Given the description of an element on the screen output the (x, y) to click on. 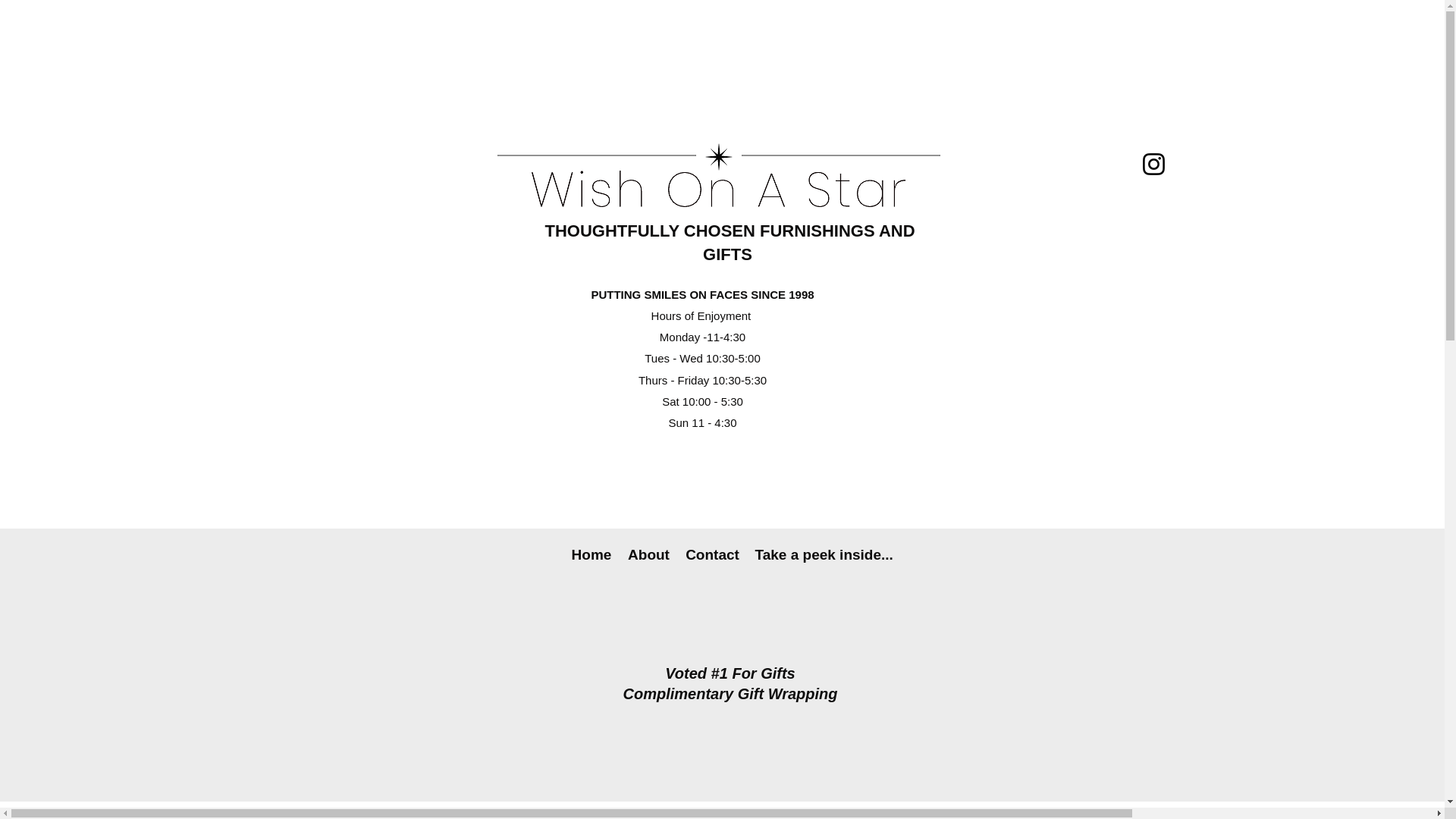
About (649, 554)
Take a peek inside... (823, 554)
THOUGHTFULLY CHOSEN FURNISHINGS AND GIFTS  (729, 242)
Home (591, 554)
Contact (713, 554)
